Given the description of an element on the screen output the (x, y) to click on. 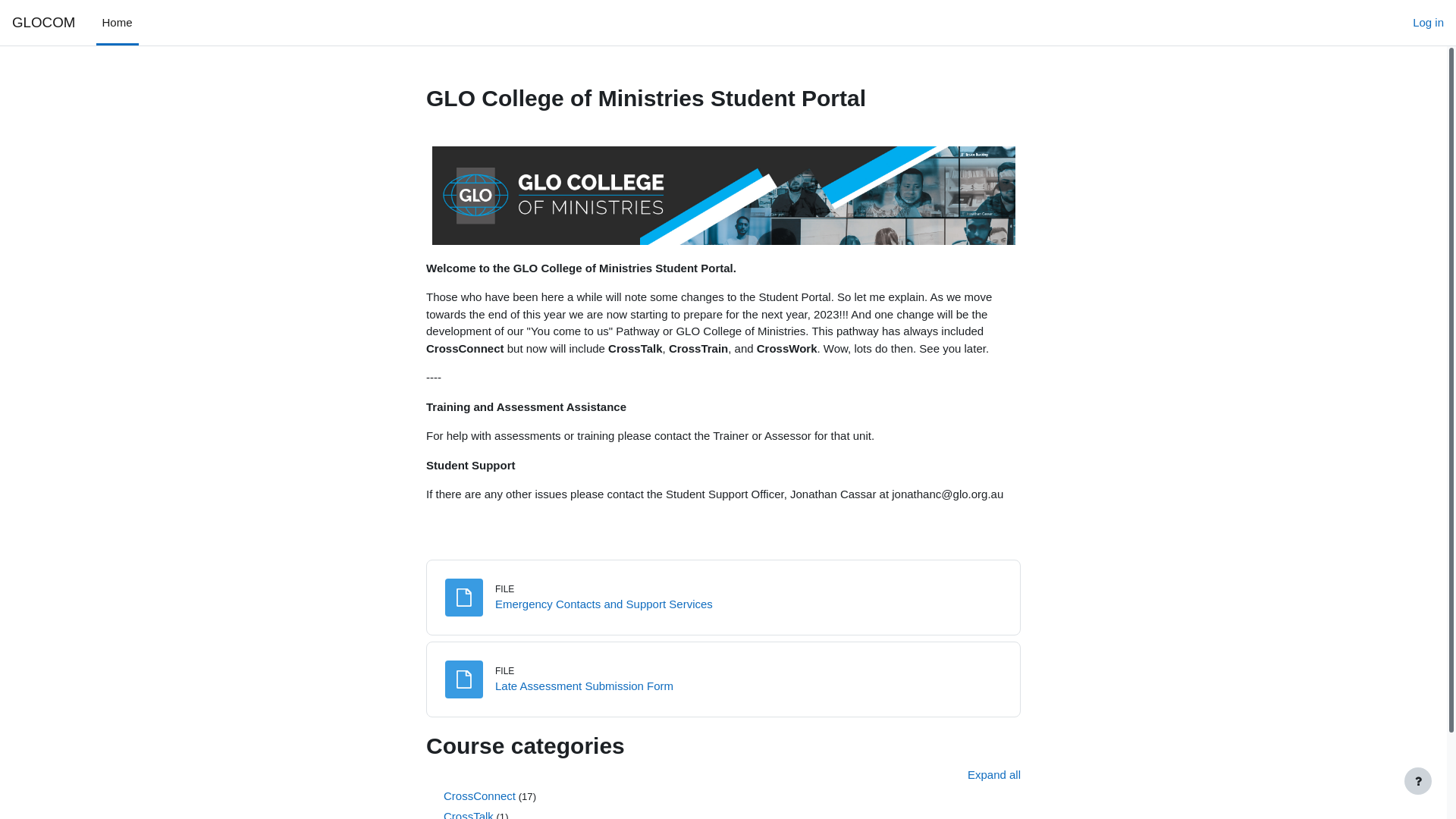
Late Assessment Submission Form
File Element type: text (584, 685)
Log in Element type: text (1427, 22)
GLOCOM Element type: text (43, 22)
Emergency Contacts and Support Services
File Element type: text (603, 603)
Home Element type: text (117, 22)
Expand all Element type: text (993, 774)
CrossConnect Element type: text (479, 795)
